Given the description of an element on the screen output the (x, y) to click on. 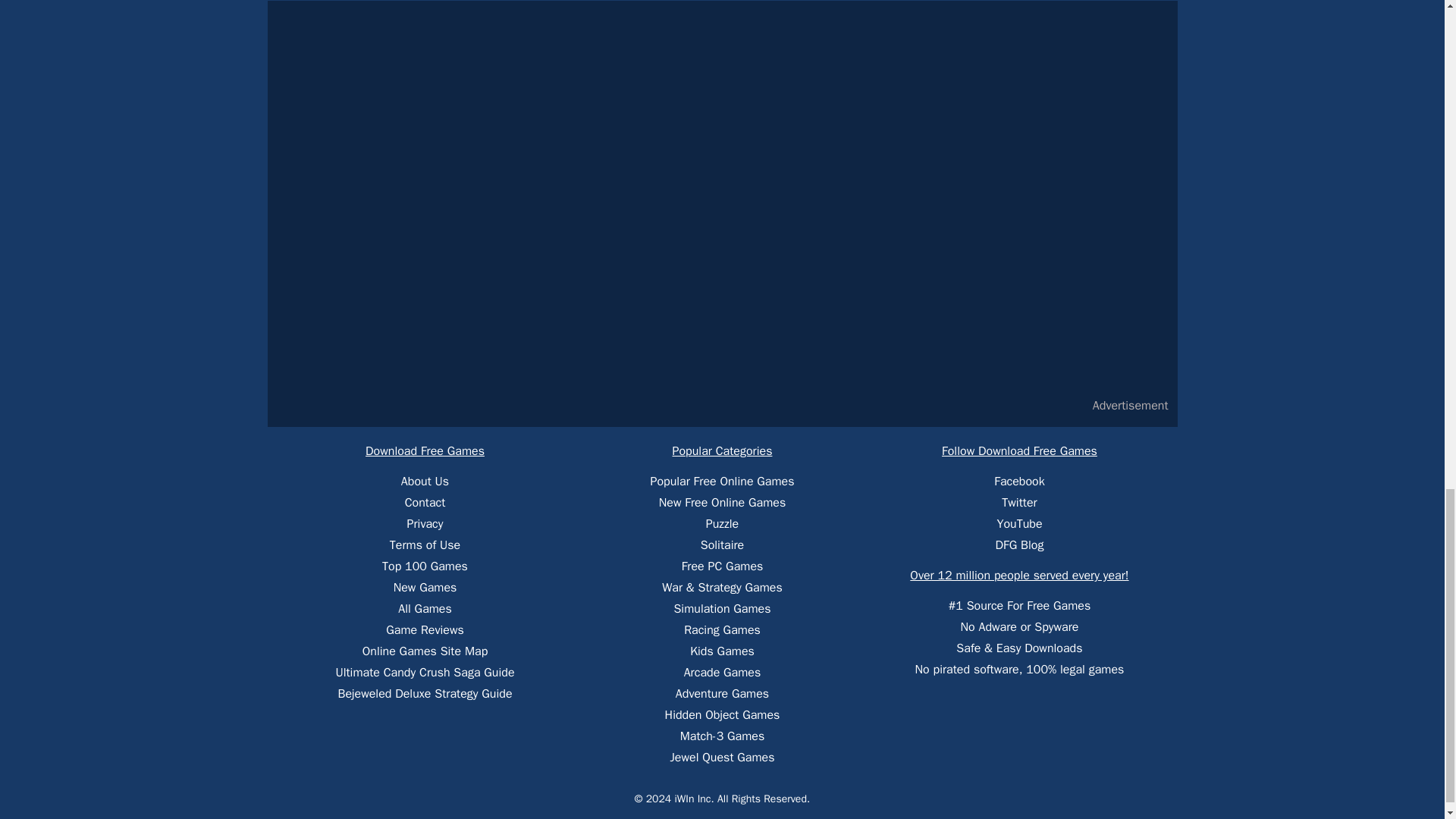
About Us (424, 481)
Contact (424, 502)
Privacy (425, 523)
New Games (425, 587)
Terms of Use (425, 544)
Top 100 Games (424, 566)
